Given the description of an element on the screen output the (x, y) to click on. 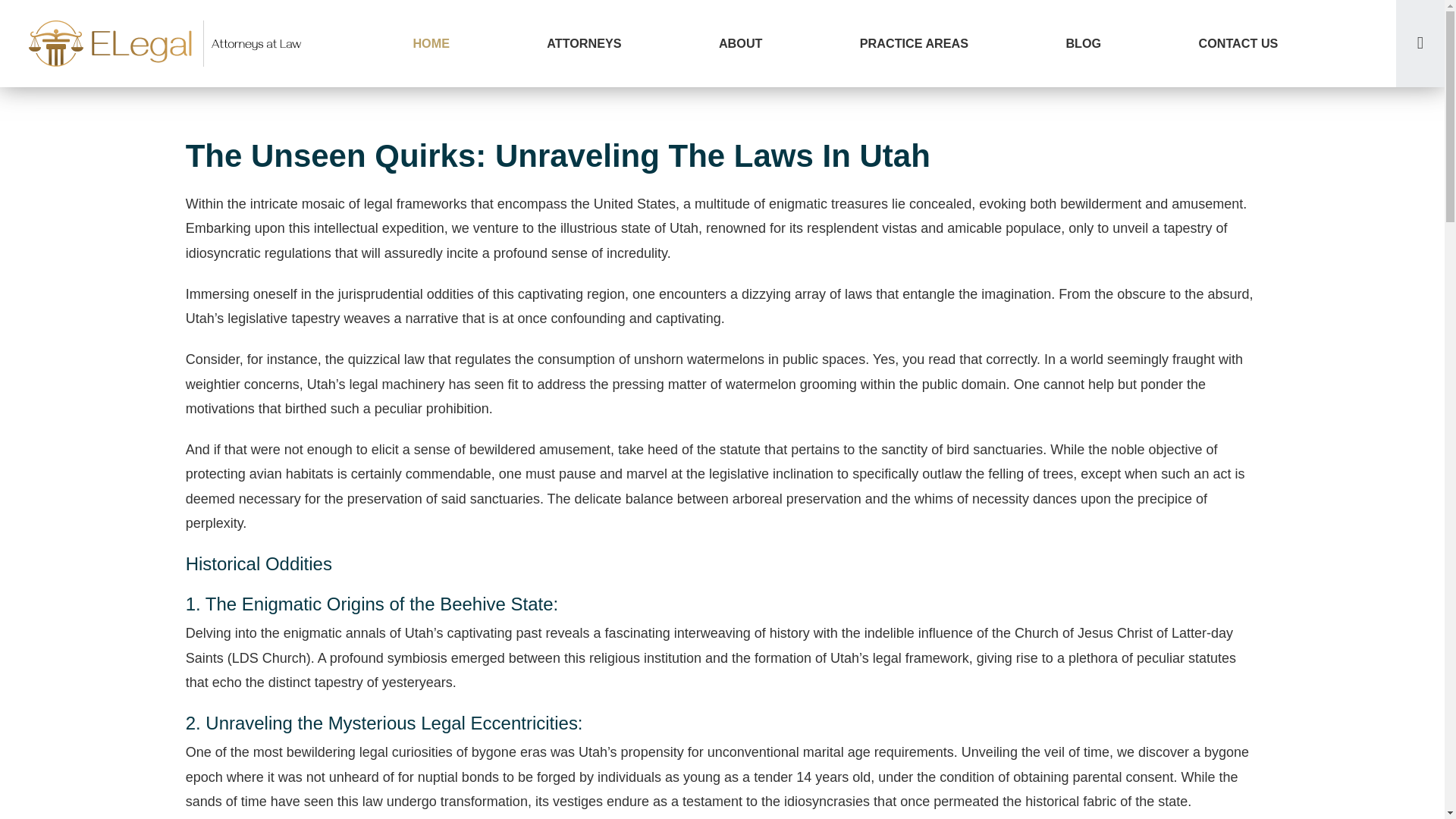
ATTORNEYS (583, 43)
PRACTICE AREAS (913, 43)
Elegal (167, 43)
ABOUT (739, 43)
HOME (430, 43)
BLOG (1083, 43)
